Given the description of an element on the screen output the (x, y) to click on. 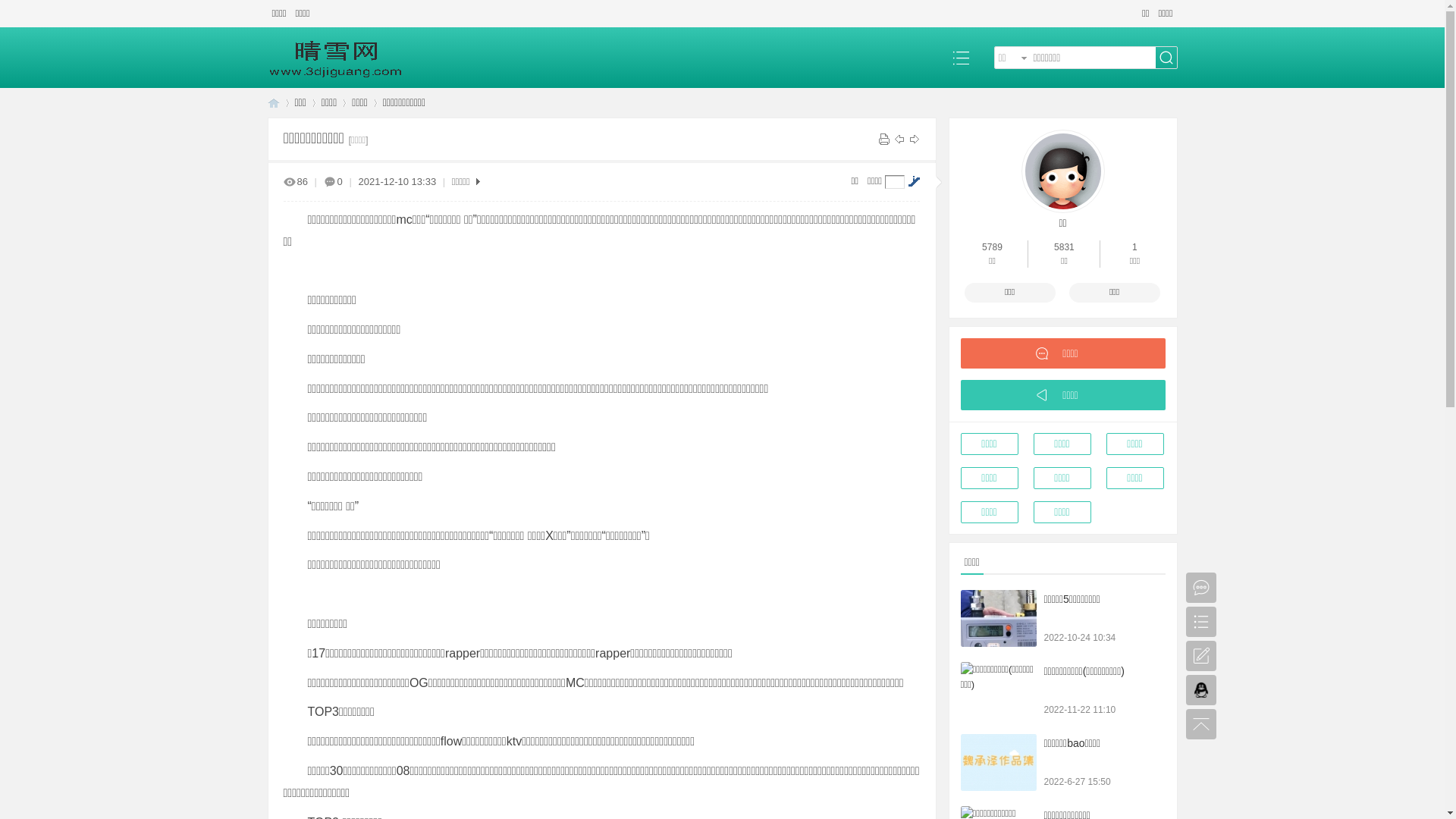
5831 Element type: text (1064, 246)
true Element type: text (1165, 56)
1 Element type: text (1134, 246)
5789 Element type: text (992, 246)
